Given the description of an element on the screen output the (x, y) to click on. 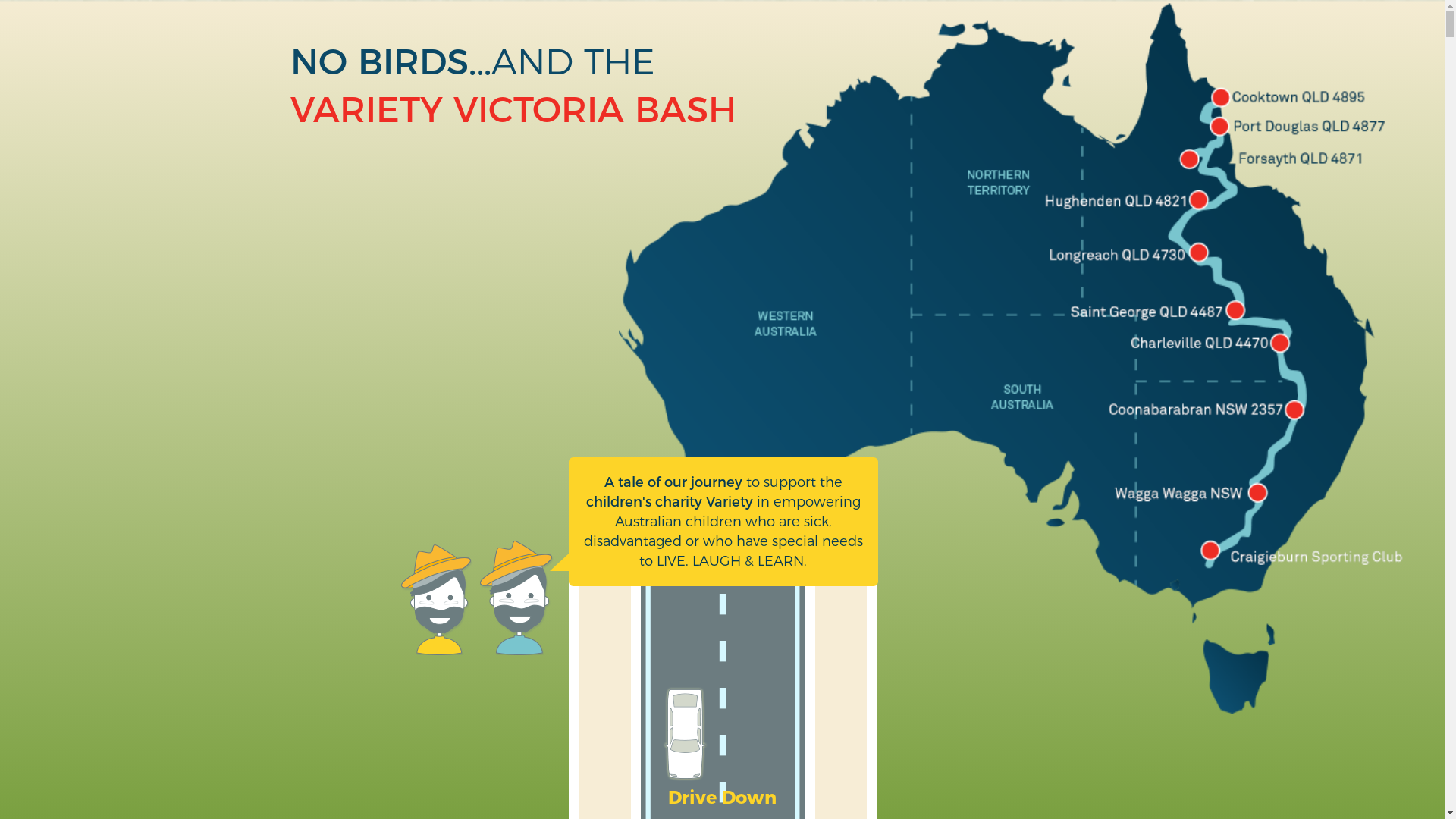
NO BIRDS Element type: text (378, 61)
